Given the description of an element on the screen output the (x, y) to click on. 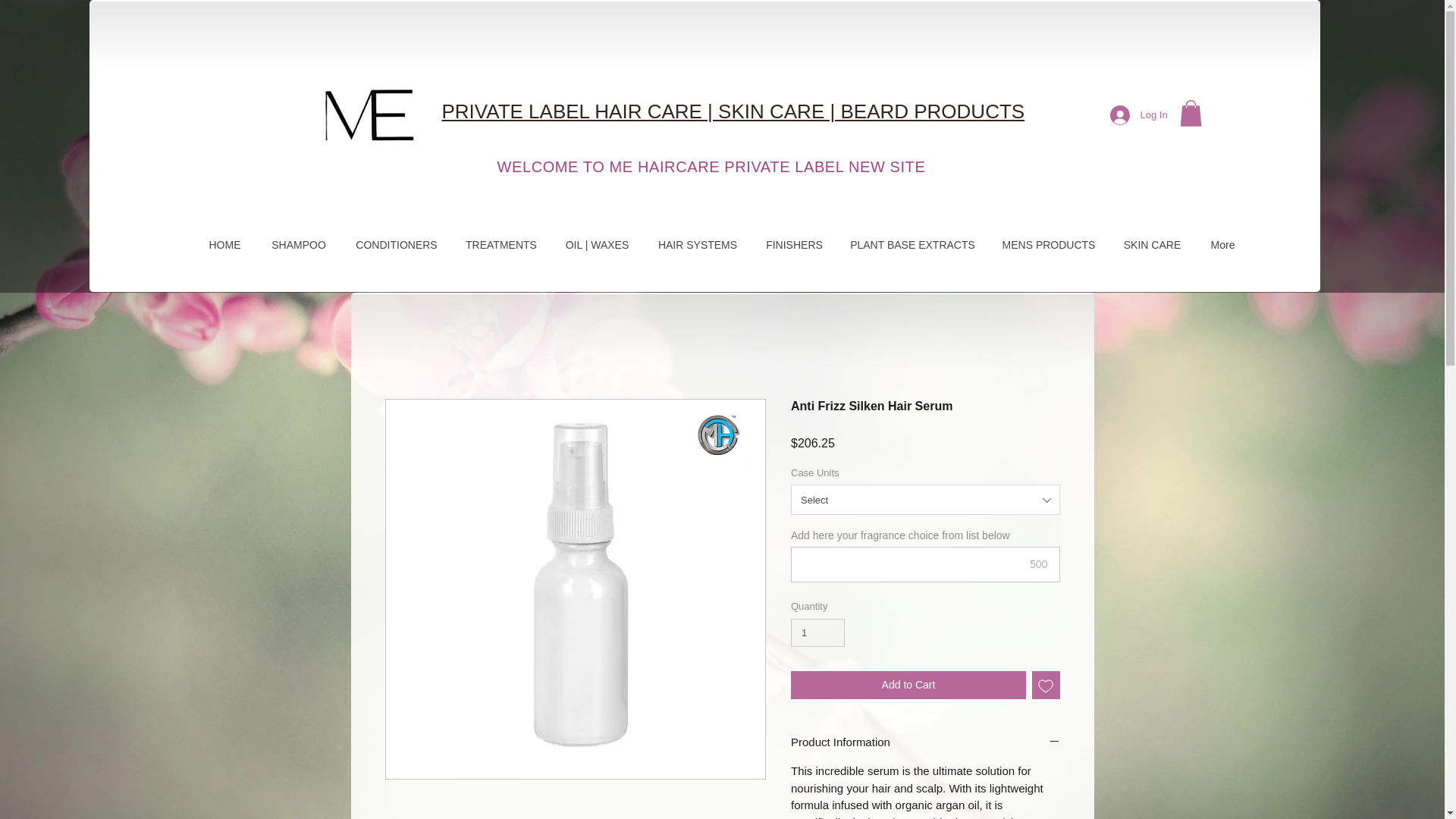
CONDITIONERS (395, 244)
SHAMPOO (298, 244)
SKIN CARE (1150, 244)
1 (817, 633)
HOME (224, 244)
FINISHERS (793, 244)
Product Information (924, 742)
Log In (1135, 114)
TREATMENTS (500, 244)
MENS PRODUCTS (1047, 244)
